Given the description of an element on the screen output the (x, y) to click on. 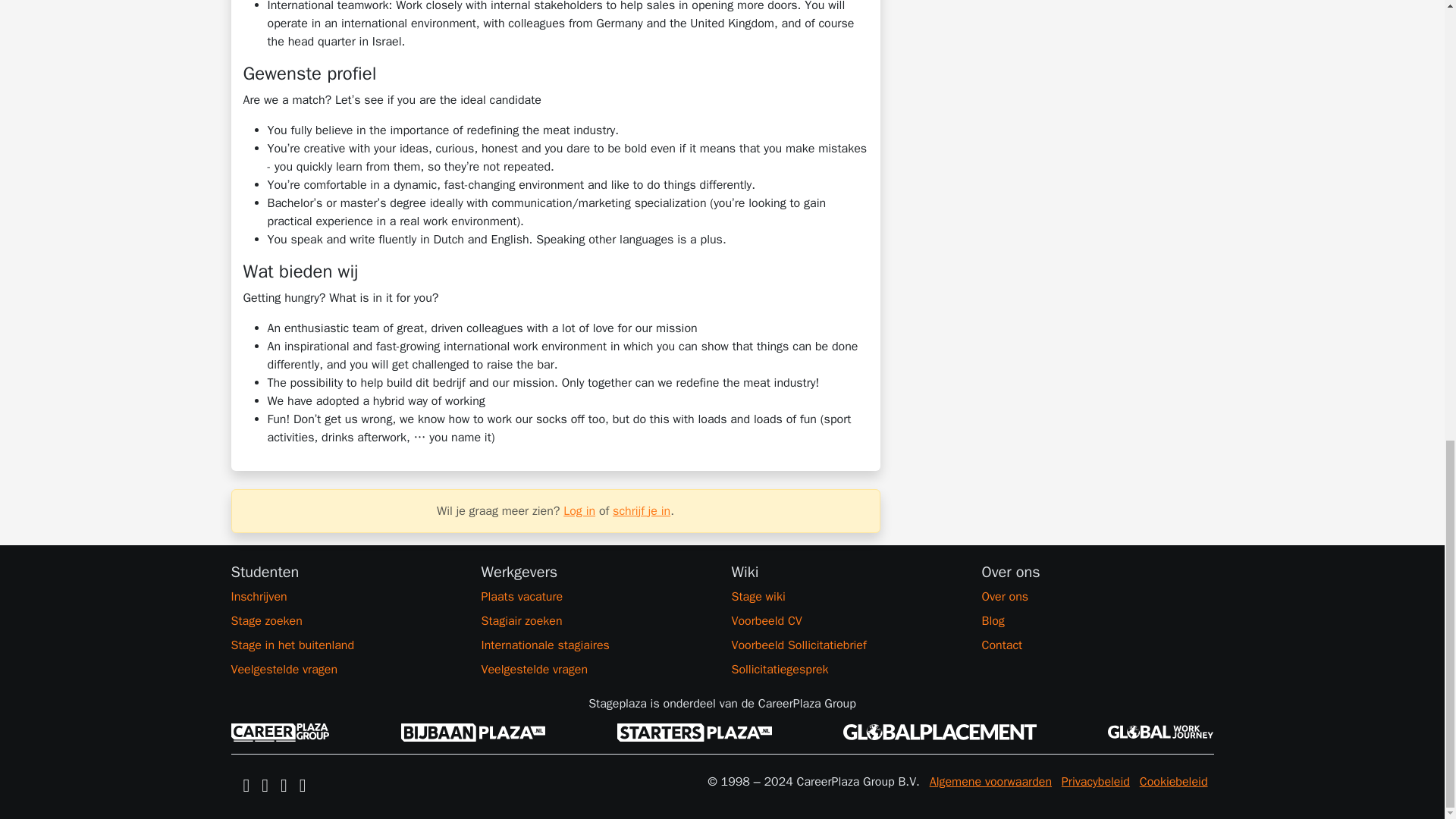
Plaats vacature (596, 597)
Stage in het buitenland (346, 645)
Internationale stagiaires (596, 645)
Veelgestelde vragen (596, 669)
Log in (579, 510)
Inschrijven (346, 597)
Voorbeeld Sollicitatiebrief (846, 645)
Voorbeeld CV (846, 620)
Stage wiki (846, 597)
Veelgestelde vragen (346, 669)
